Given the description of an element on the screen output the (x, y) to click on. 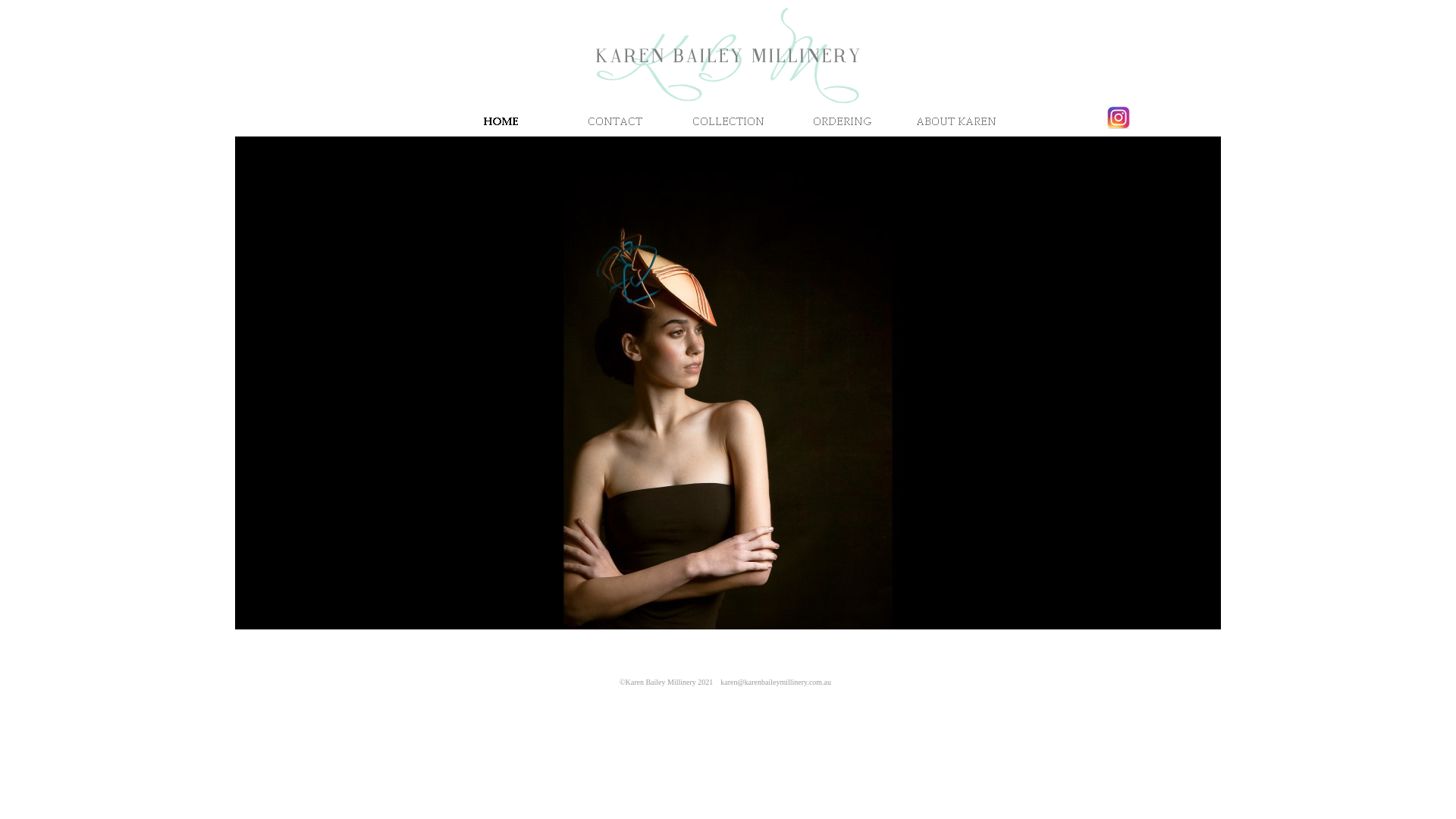
karen@karenbaileymillinery.com.au Element type: text (775, 681)
Find me on Instagram Element type: hover (1118, 117)
